Given the description of an element on the screen output the (x, y) to click on. 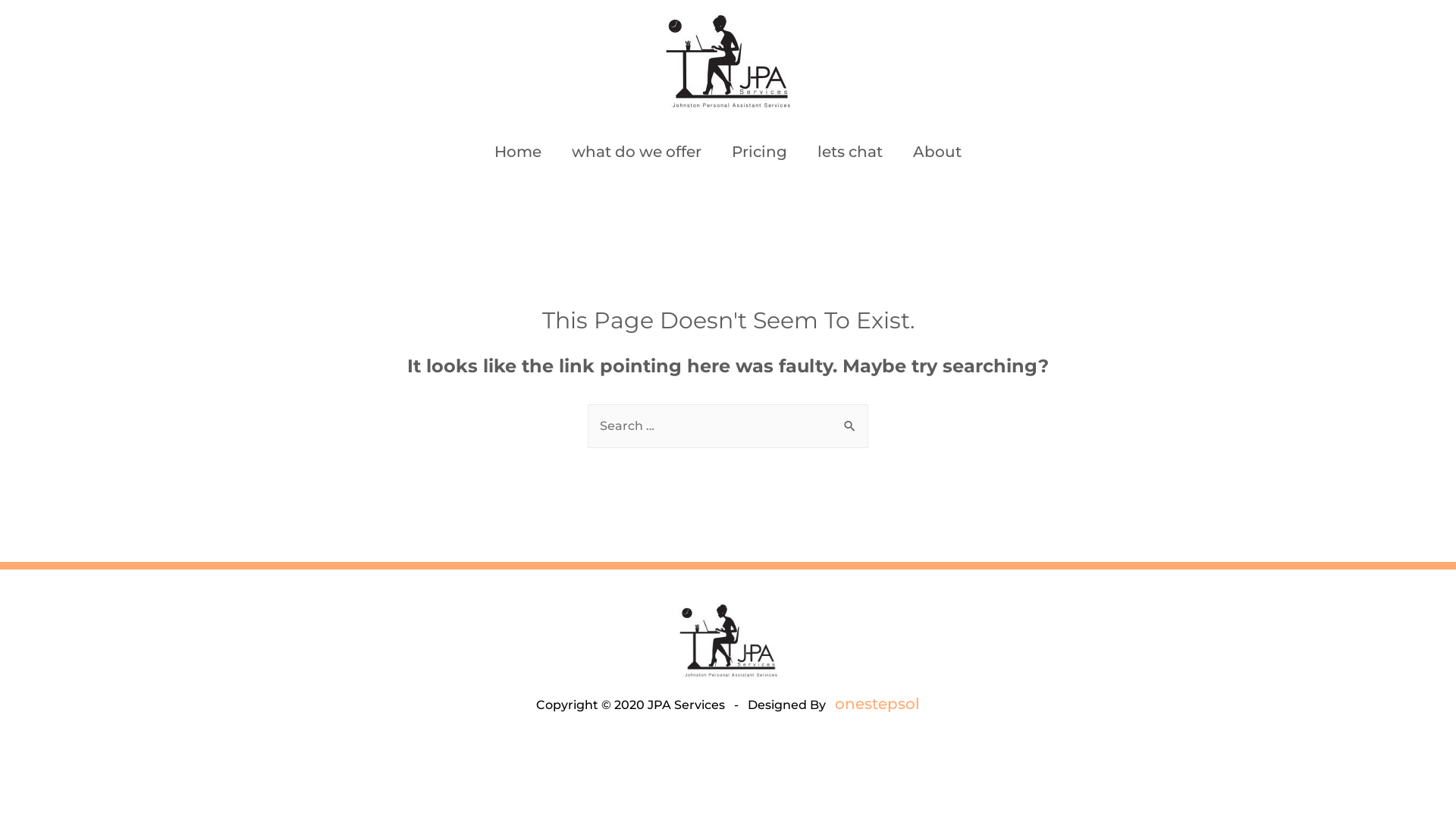
what do we offer Element type: text (636, 151)
About Element type: text (936, 151)
onestepsol Element type: text (876, 703)
Home Element type: text (517, 151)
Search Element type: text (851, 420)
lets chat Element type: text (849, 151)
Pricing Element type: text (759, 151)
